Given the description of an element on the screen output the (x, y) to click on. 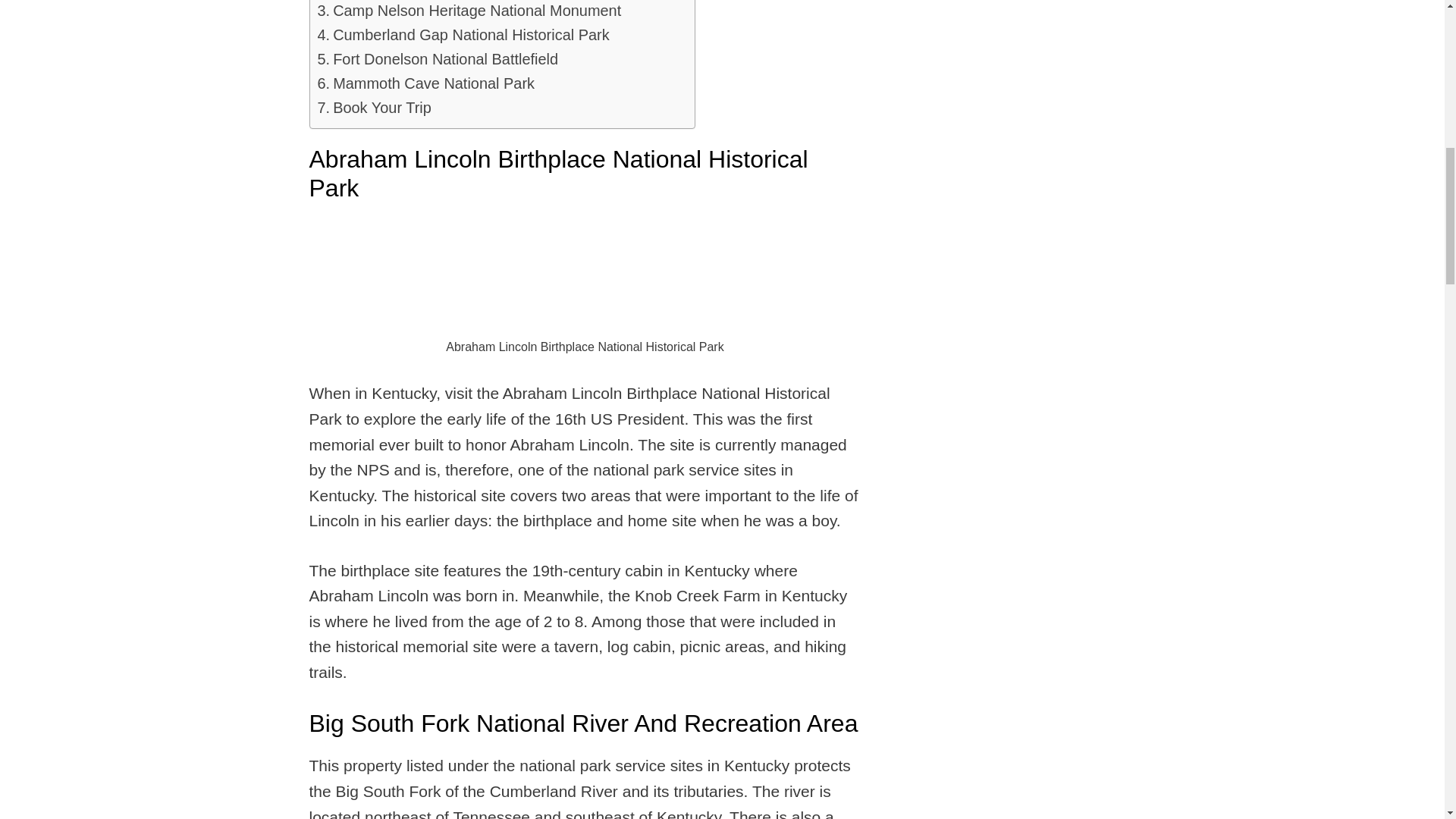
Fort Donelson National Battlefield (437, 59)
Cumberland Gap National Historical Park (462, 35)
Camp Nelson Heritage National Monument (469, 11)
Mammoth Cave National Park (425, 84)
Book Your Trip (373, 108)
Book Your Trip (373, 108)
Cumberland Gap National Historical Park (462, 35)
Fort Donelson National Battlefield (437, 59)
Camp Nelson Heritage National Monument (469, 11)
Mammoth Cave National Park (425, 84)
